Given the description of an element on the screen output the (x, y) to click on. 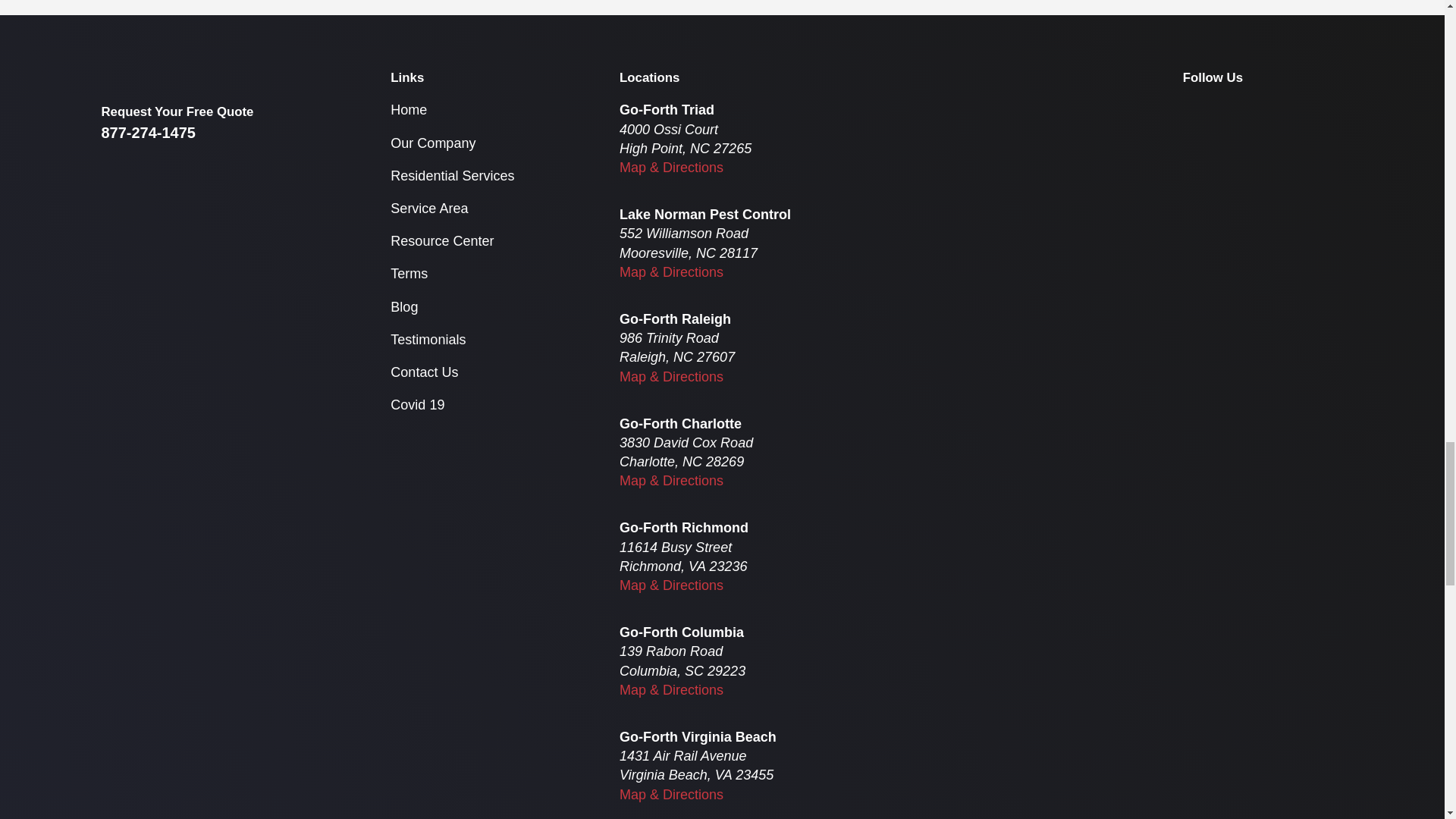
LinkedIn (1332, 109)
Instagram (1239, 109)
Facebook (1192, 109)
YouTube (1285, 109)
